Given the description of an element on the screen output the (x, y) to click on. 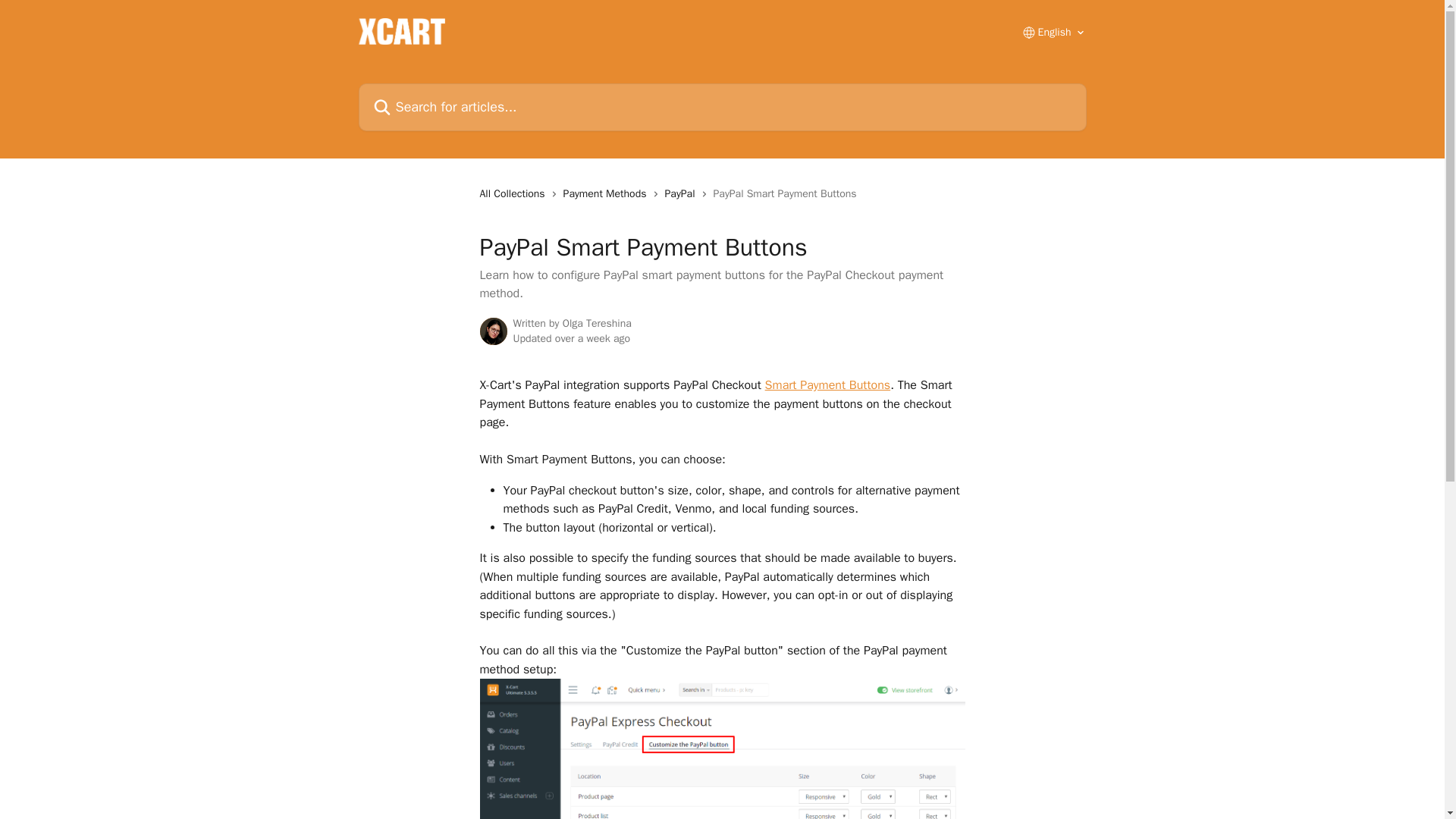
Payment Methods (607, 193)
PayPal (681, 193)
Smart Payment Buttons (828, 385)
All Collections (514, 193)
